Given the description of an element on the screen output the (x, y) to click on. 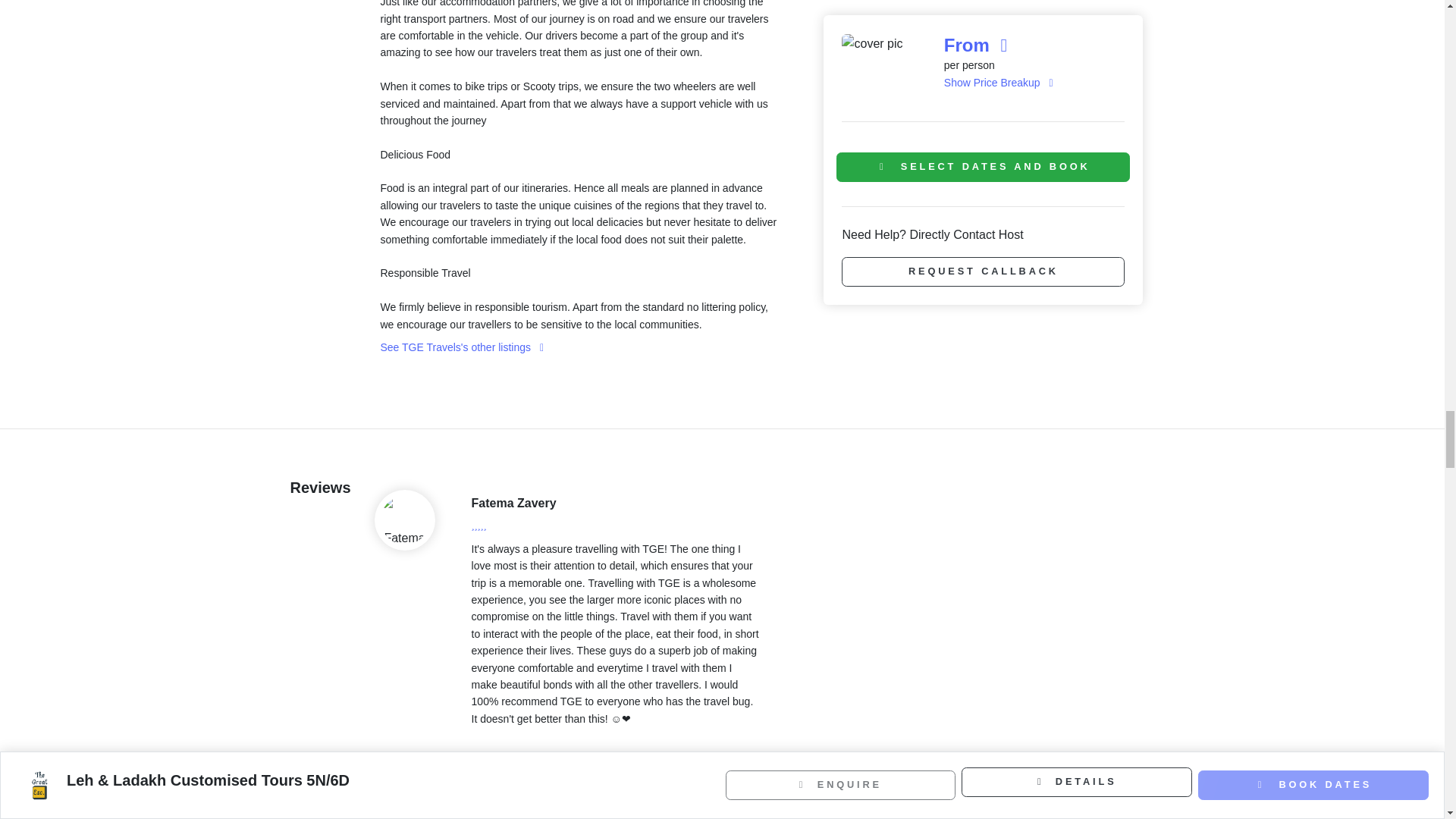
See TGE Travels's other listings (462, 346)
